Given the description of an element on the screen output the (x, y) to click on. 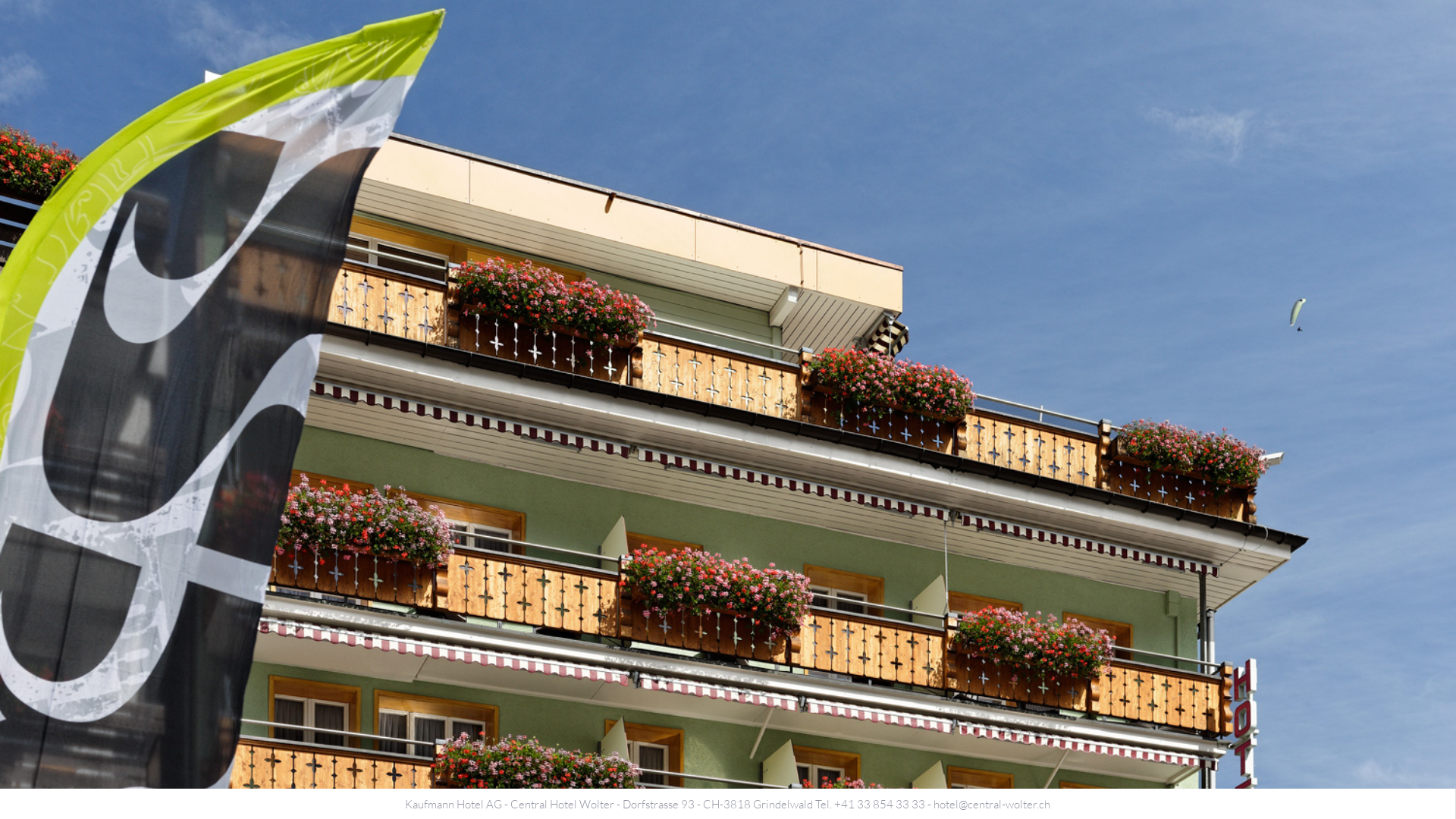
galerie_picture_70 Element type: hover (254, 394)
BOOK NOW Element type: text (1138, 27)
Deutsch Element type: text (35, 24)
INFORMATION Element type: text (783, 27)
English Element type: text (78, 24)
GASTRONOMY Element type: text (608, 27)
HOME Element type: text (305, 27)
Sitemap Element type: text (69, 15)
Picture Gallery Central Wolter Hotel Element type: hover (727, 394)
AGB Element type: text (30, 15)
Philippe-Hahn webdesign Element type: hover (1375, 782)
hotel@central-wolter.ch Element type: text (991, 804)
ROOMS Element type: text (446, 27)
GIFT-VOUCHERS Element type: text (964, 27)
